Given the description of an element on the screen output the (x, y) to click on. 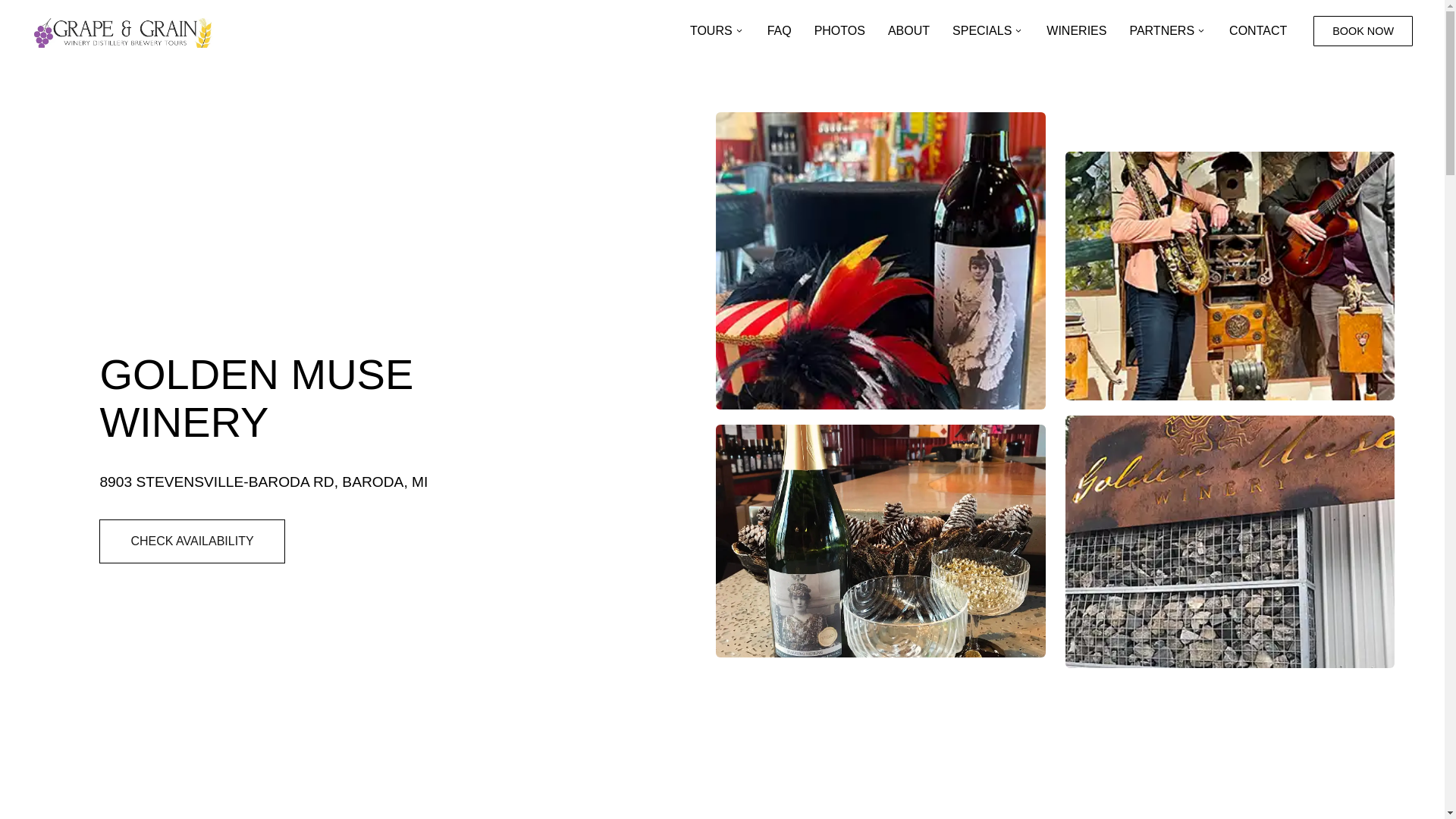
FAQ (779, 30)
CONTACT (1257, 30)
TOURS (716, 30)
WINERIES (1076, 30)
PHOTOS (839, 30)
SPECIALS (987, 30)
PARTNERS (1167, 30)
BOOK NOW (1362, 30)
CHECK AVAILABILITY (191, 541)
ABOUT (908, 30)
